Given the description of an element on the screen output the (x, y) to click on. 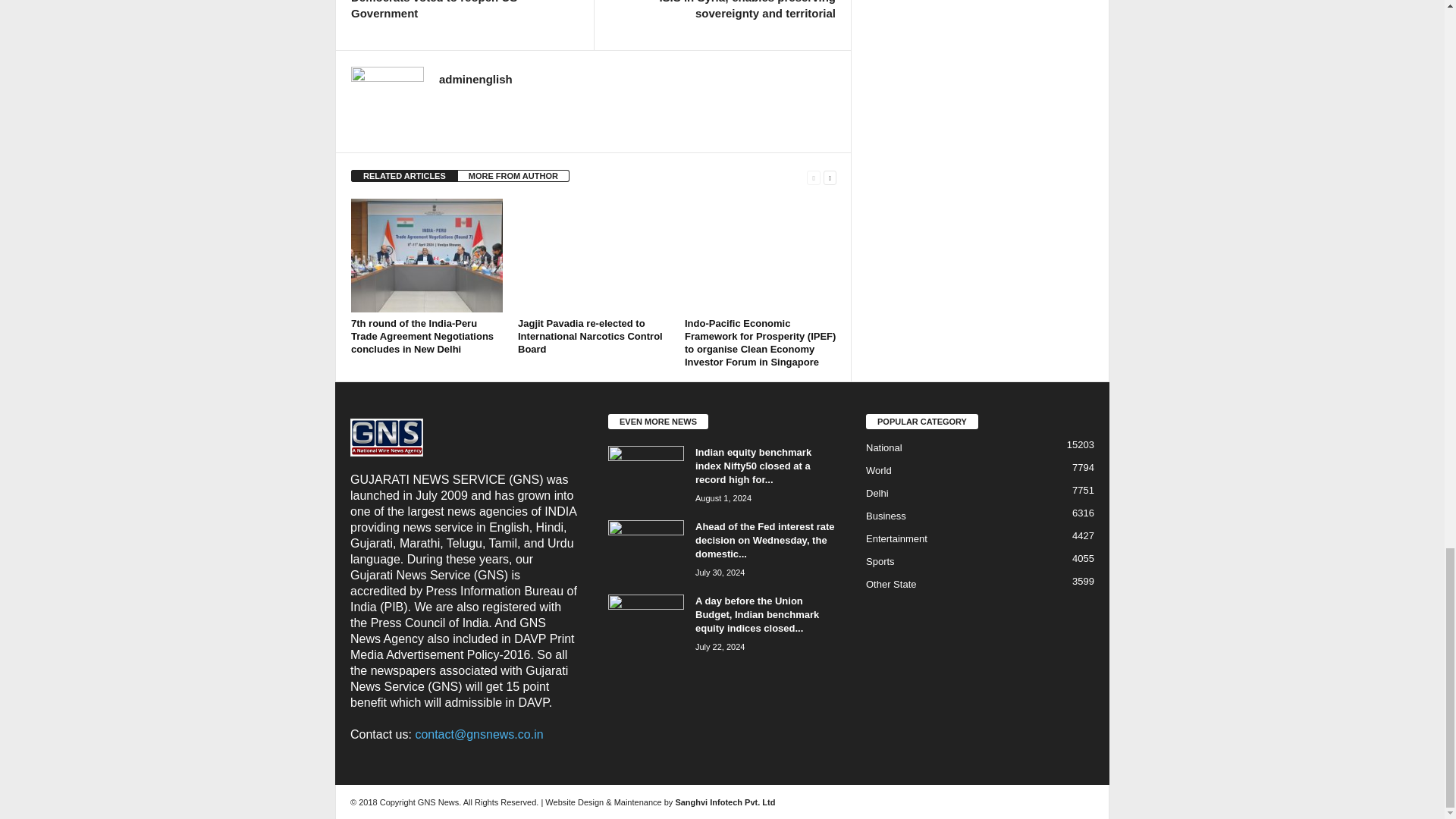
GNS News (386, 437)
